Given the description of an element on the screen output the (x, y) to click on. 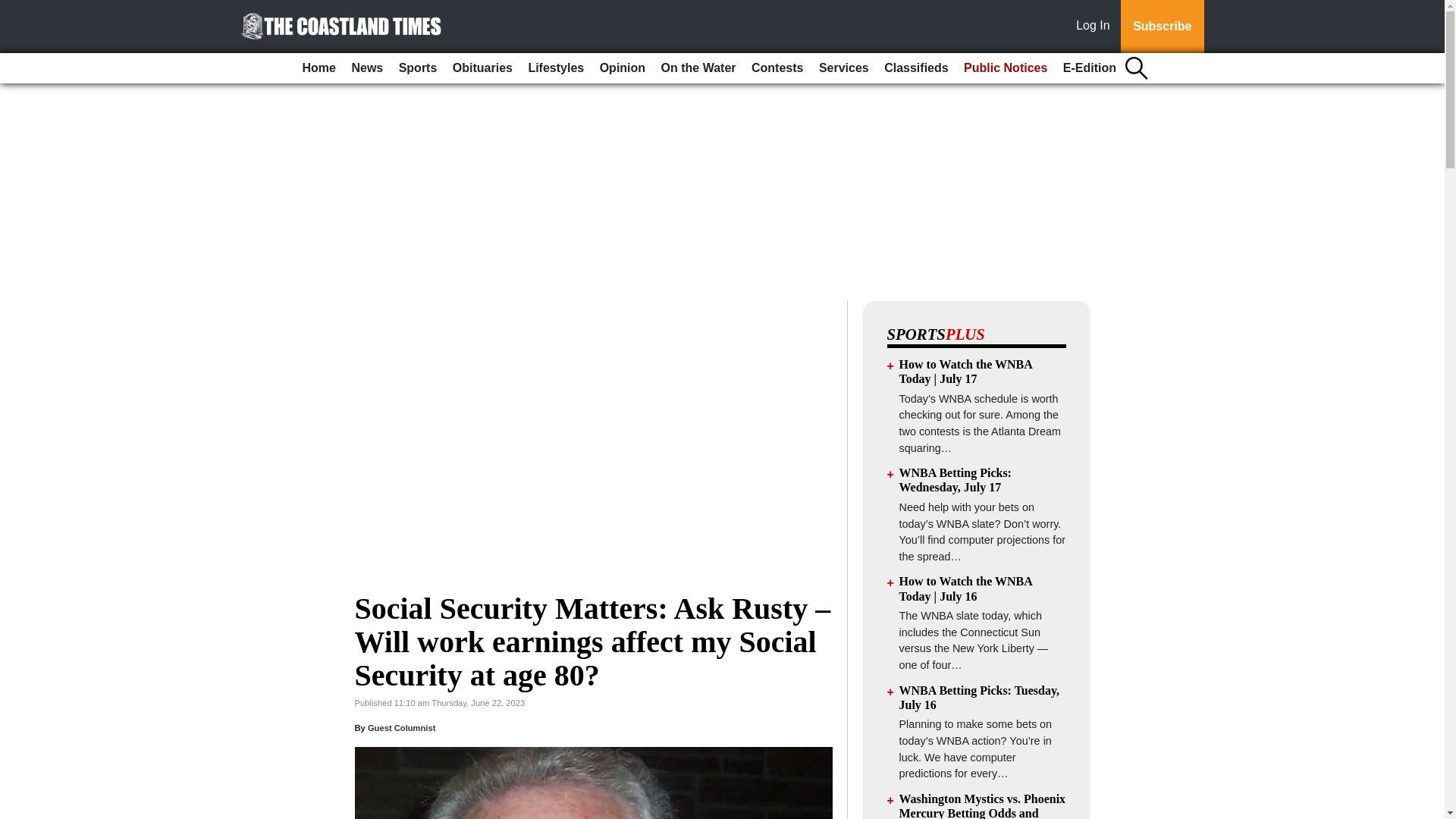
Obituaries (482, 68)
Lifestyles (555, 68)
Opinion (622, 68)
Home (319, 68)
News (366, 68)
Guest Columnist (401, 727)
Go (13, 9)
Subscribe (1162, 26)
Classifieds (915, 68)
Contests (777, 68)
Services (843, 68)
Public Notices (1005, 68)
Sports (418, 68)
E-Edition (1089, 68)
On the Water (698, 68)
